Given the description of an element on the screen output the (x, y) to click on. 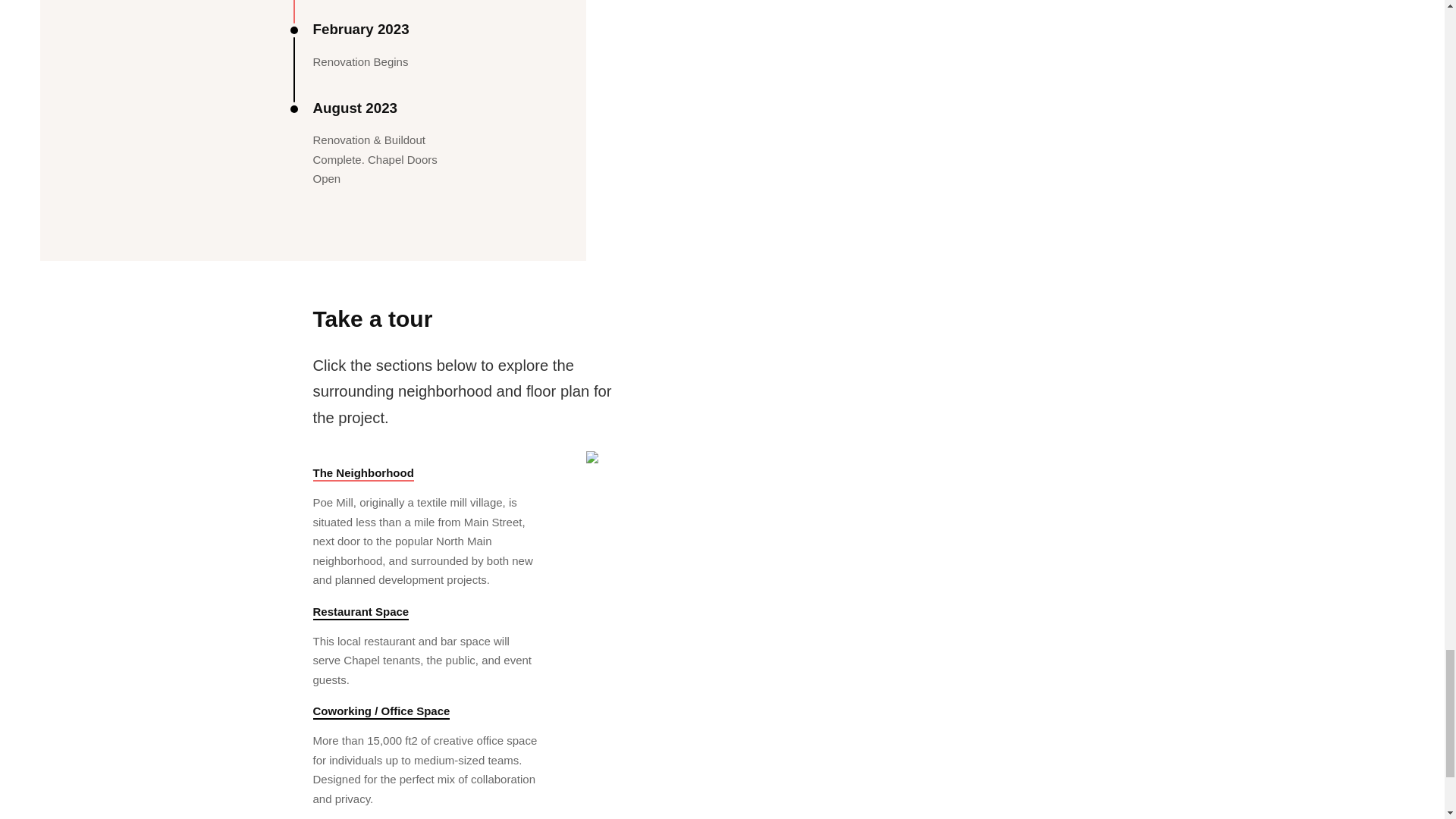
Restaurant Space (361, 612)
The Neighborhood (363, 473)
